Given the description of an element on the screen output the (x, y) to click on. 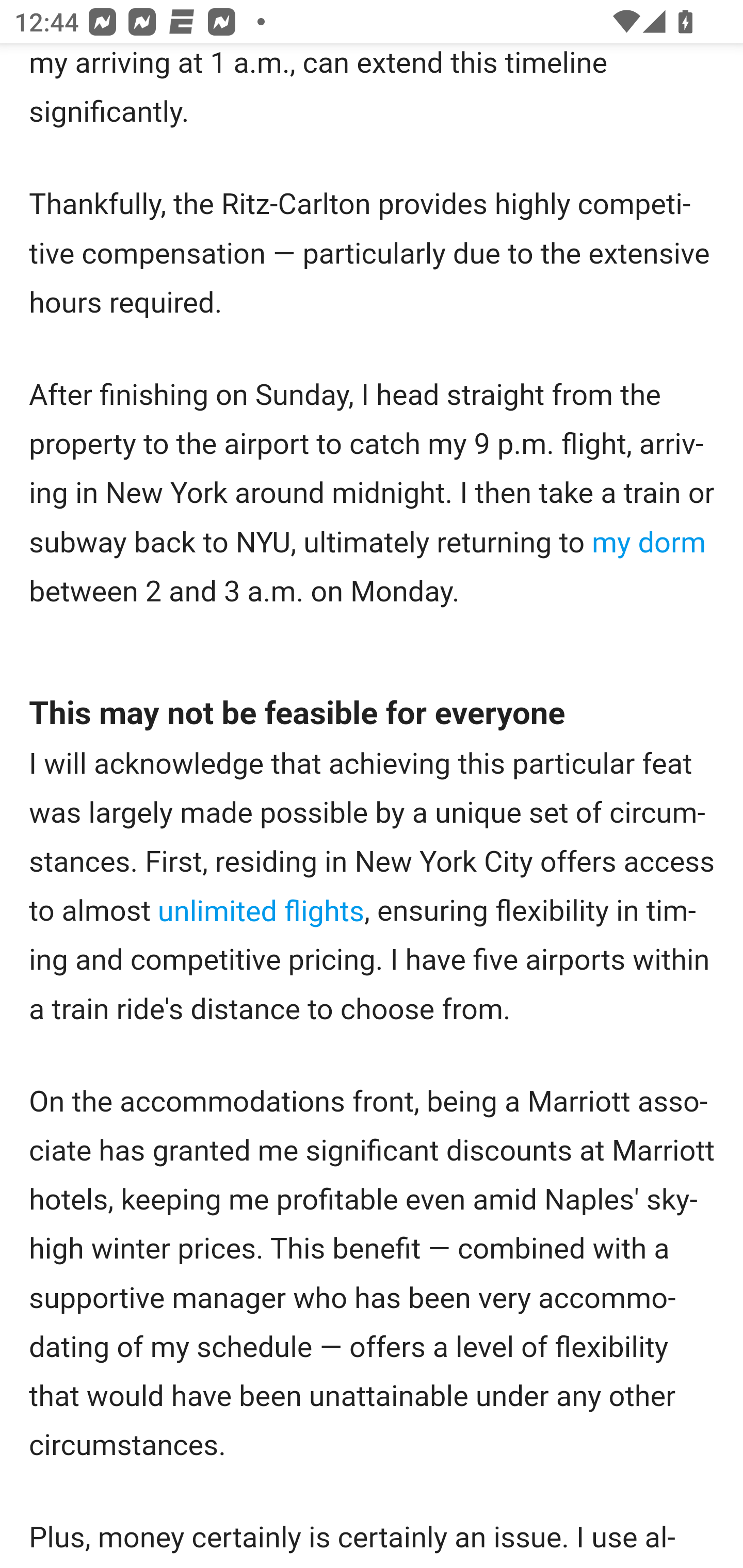
my dorm (648, 543)
unlimited flights (261, 910)
